Given the description of an element on the screen output the (x, y) to click on. 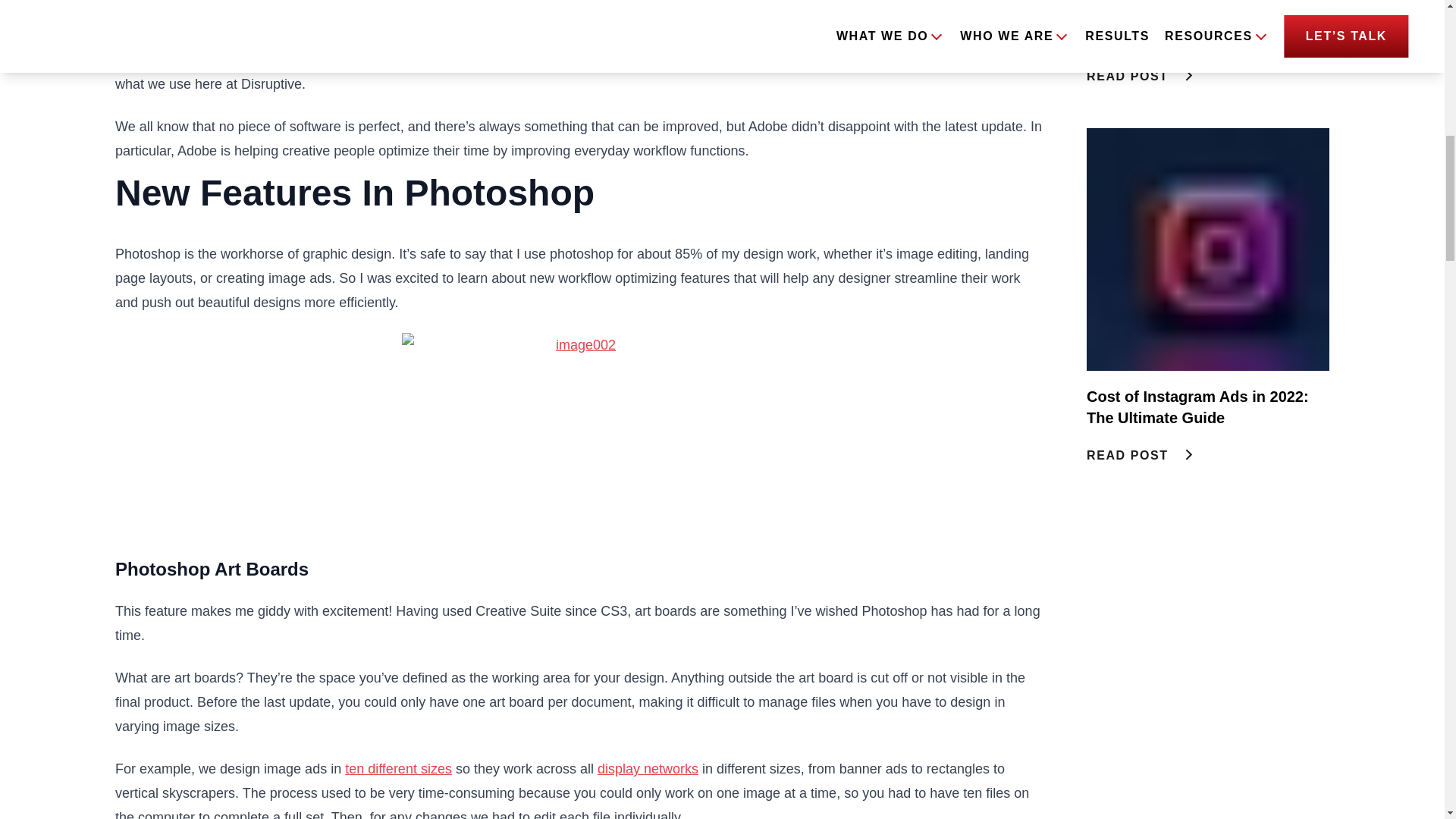
Creative Cloud Suite (1207, 297)
display networks (895, 59)
ten different sizes (647, 768)
